Given the description of an element on the screen output the (x, y) to click on. 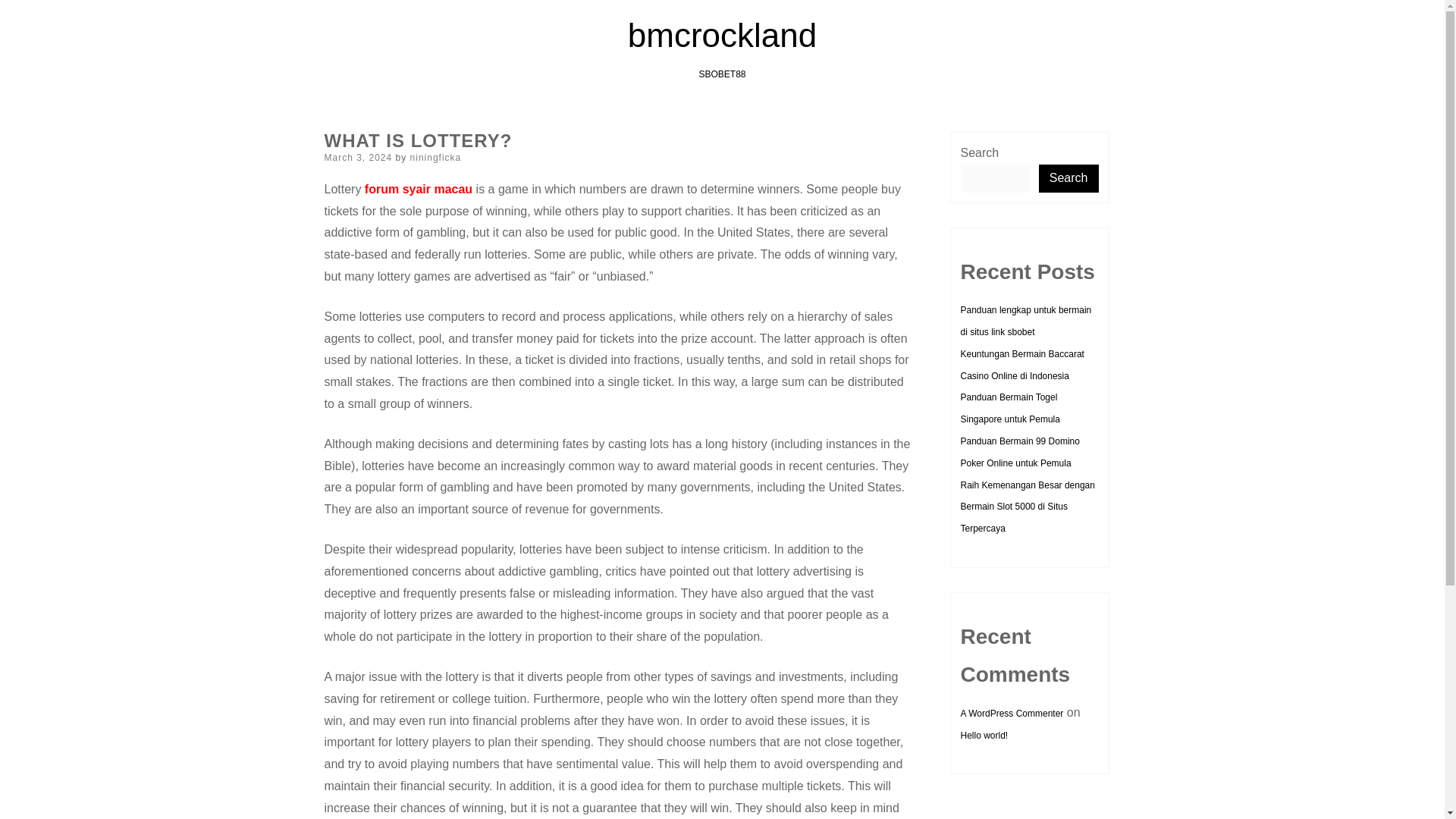
March 3, 2024 (358, 157)
Search (1069, 178)
Hello world! (983, 735)
Panduan lengkap untuk bermain di situs link sbobet (1024, 320)
bmcrockland (721, 35)
Panduan Bermain 99 Domino Poker Online untuk Pemula (1018, 451)
forum syair macau (418, 188)
SBOBET88 (721, 73)
Keuntungan Bermain Baccarat Casino Online di Indonesia (1021, 364)
